Given the description of an element on the screen output the (x, y) to click on. 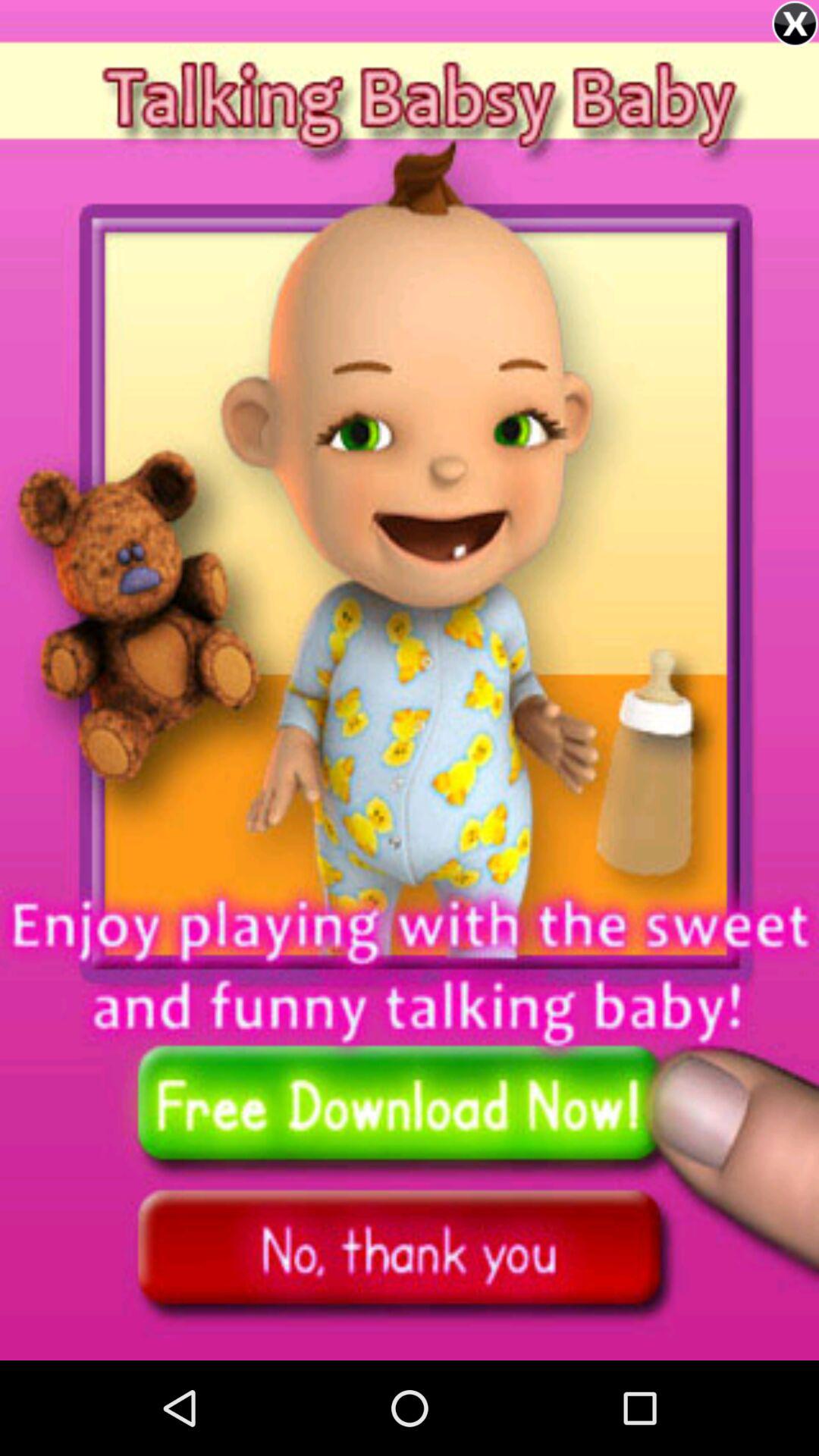
close advertisement (795, 23)
